Given the description of an element on the screen output the (x, y) to click on. 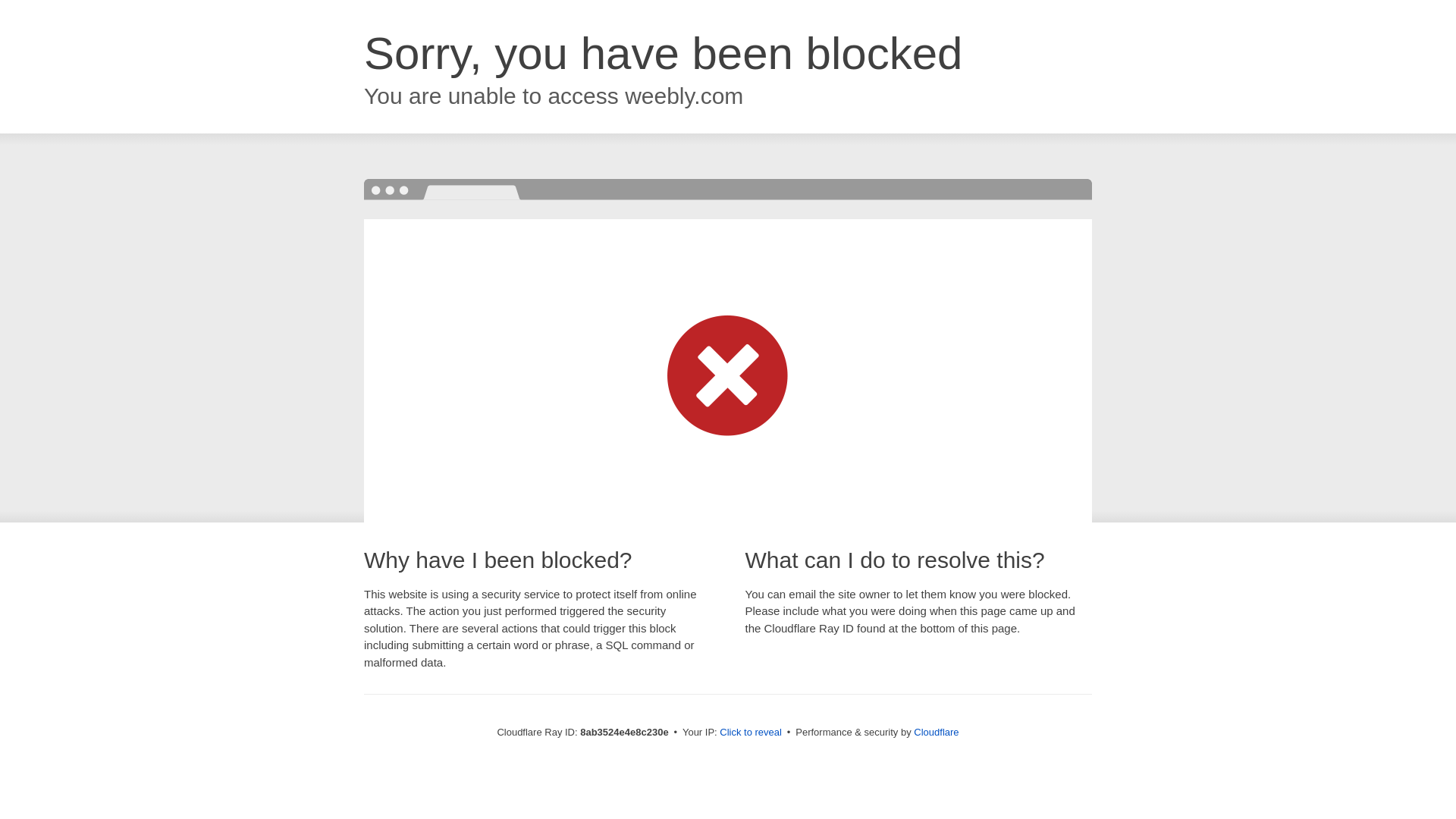
Click to reveal (750, 732)
Cloudflare (936, 731)
